Given the description of an element on the screen output the (x, y) to click on. 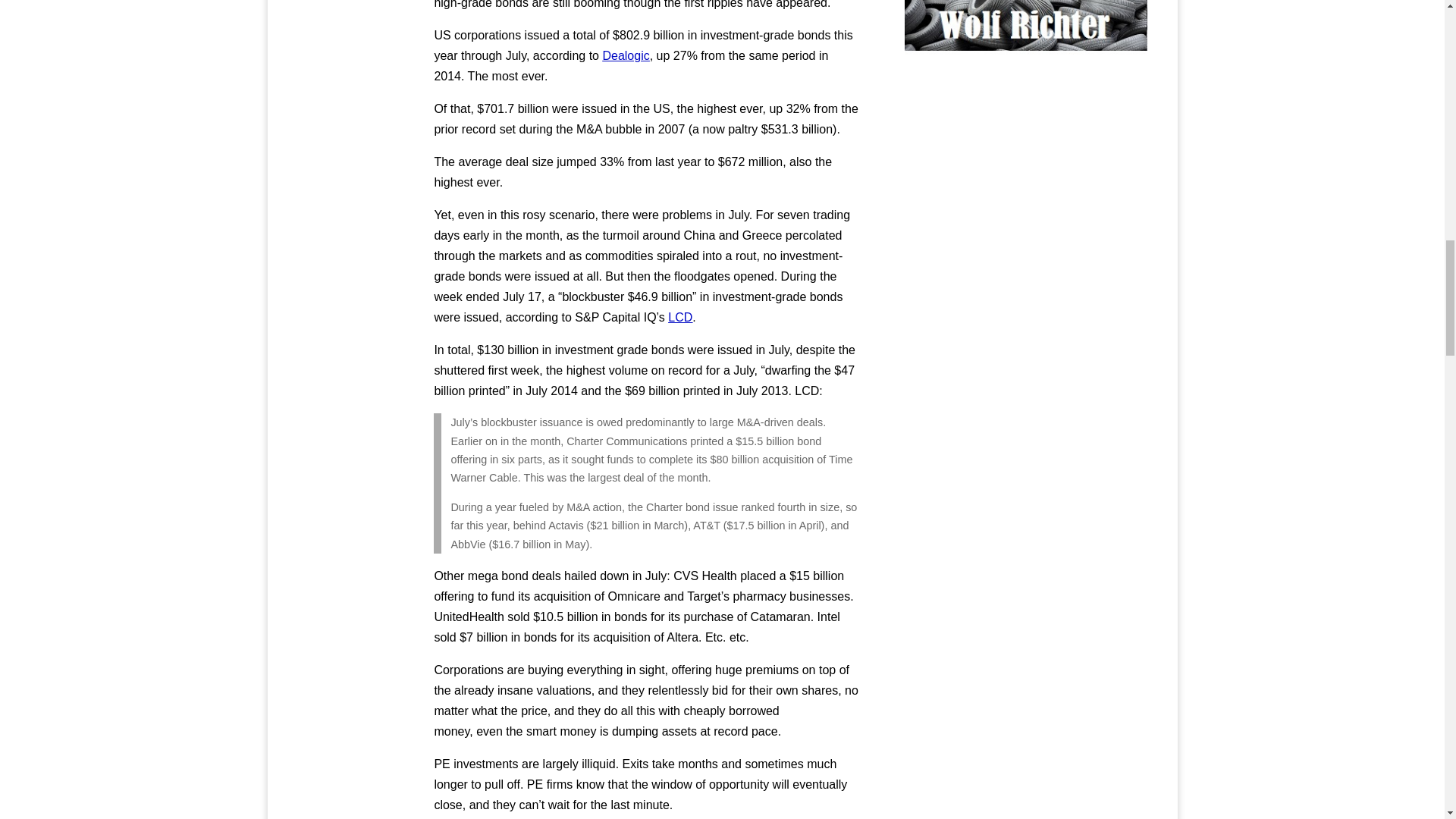
Dealogic (625, 55)
LCD (680, 317)
